Given the description of an element on the screen output the (x, y) to click on. 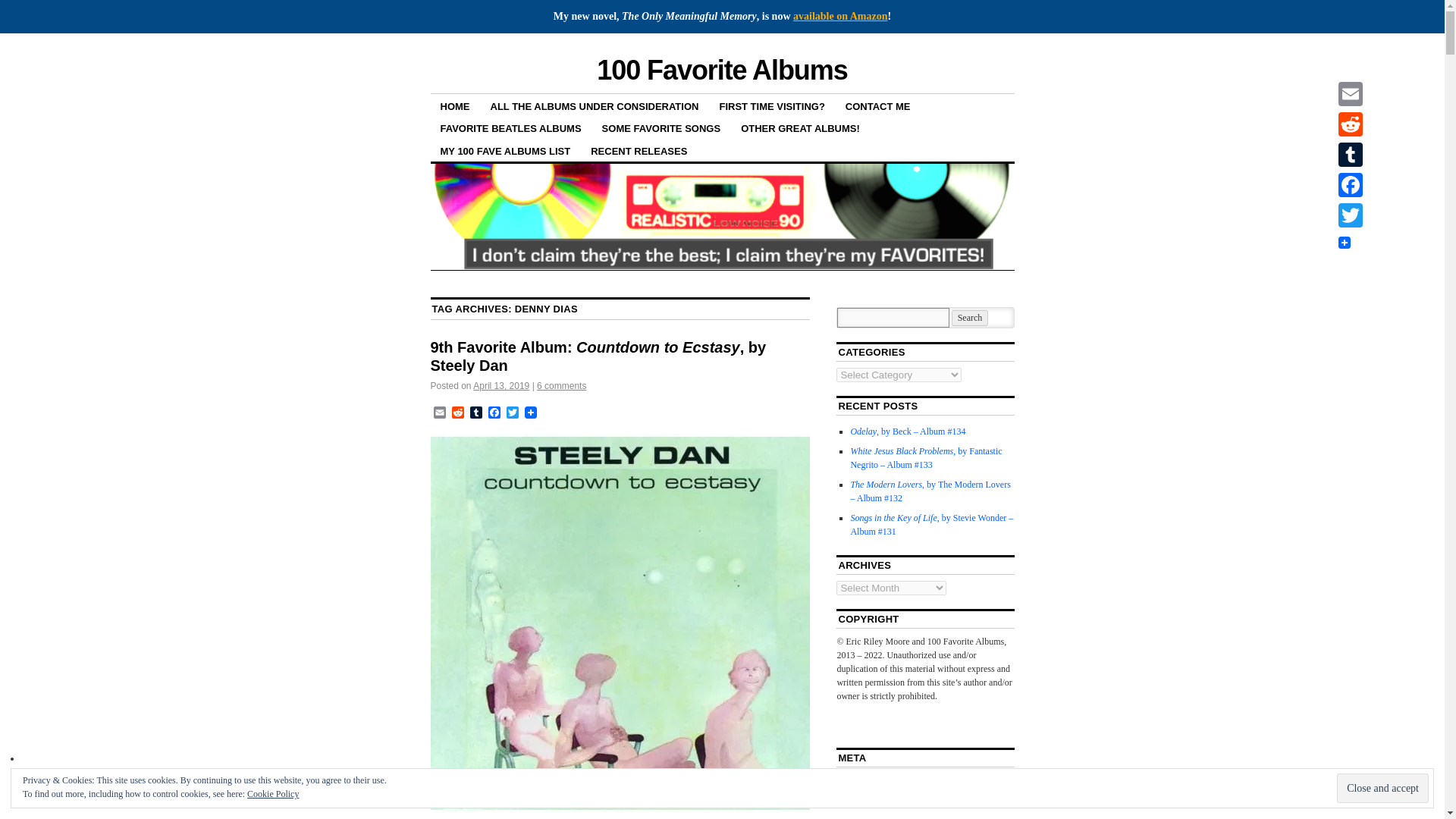
Search (970, 317)
Email (439, 413)
OTHER GREAT ALBUMS! (799, 127)
9th Favorite Album: Countdown to Ecstasy, by Steely Dan (598, 356)
Twitter (512, 413)
Reddit (457, 413)
FIRST TIME VISITING? (771, 106)
Tumblr (475, 413)
SOME FAVORITE SONGS (661, 127)
April 13, 2019 (501, 385)
Email (439, 413)
Twitter (512, 413)
FAVORITE BEATLES ALBUMS (510, 127)
5:59 am (501, 385)
100 Favorite Albums (721, 69)
